Given the description of an element on the screen output the (x, y) to click on. 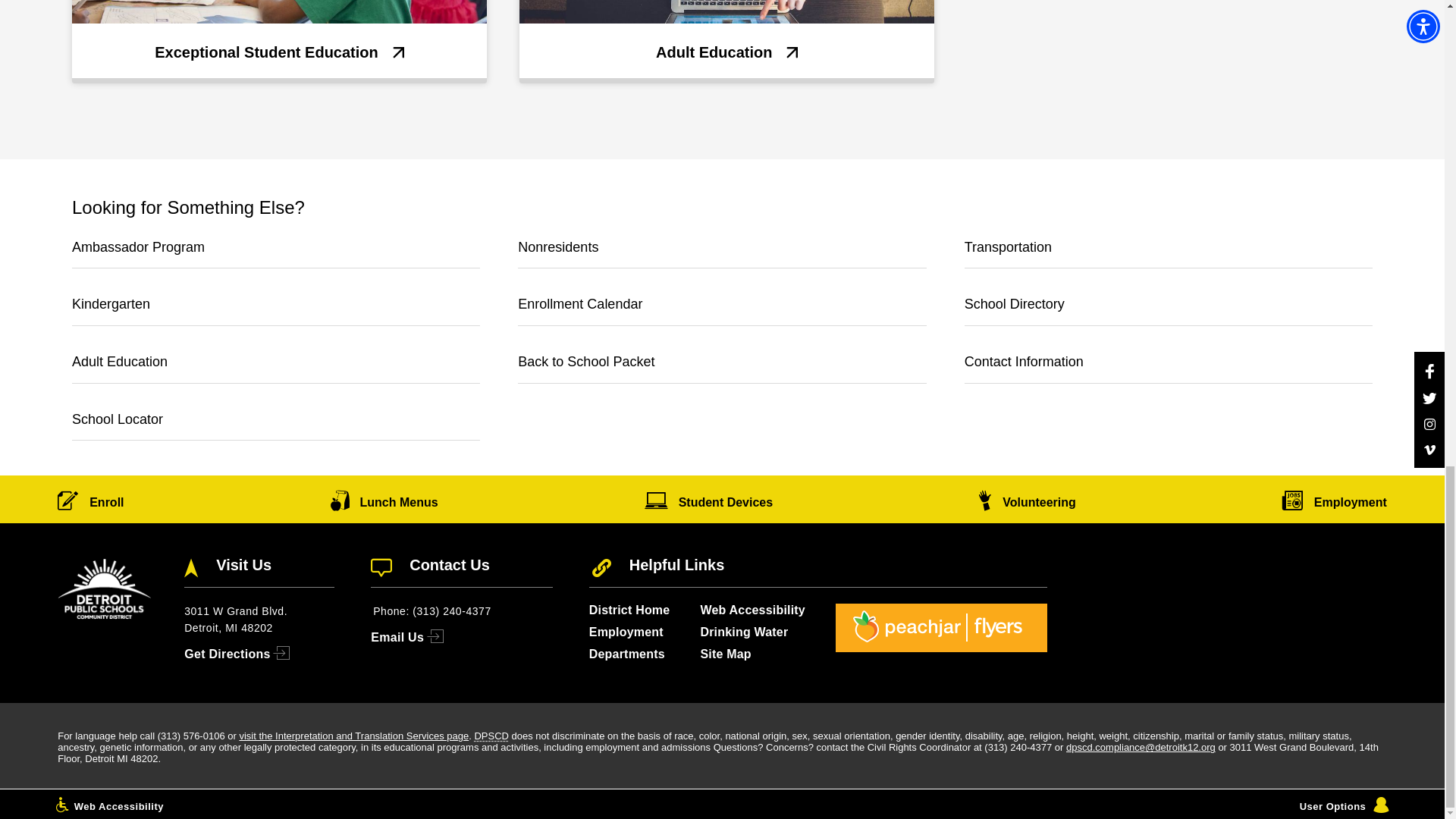
Detroit Public Schools Community District (491, 736)
